Given the description of an element on the screen output the (x, y) to click on. 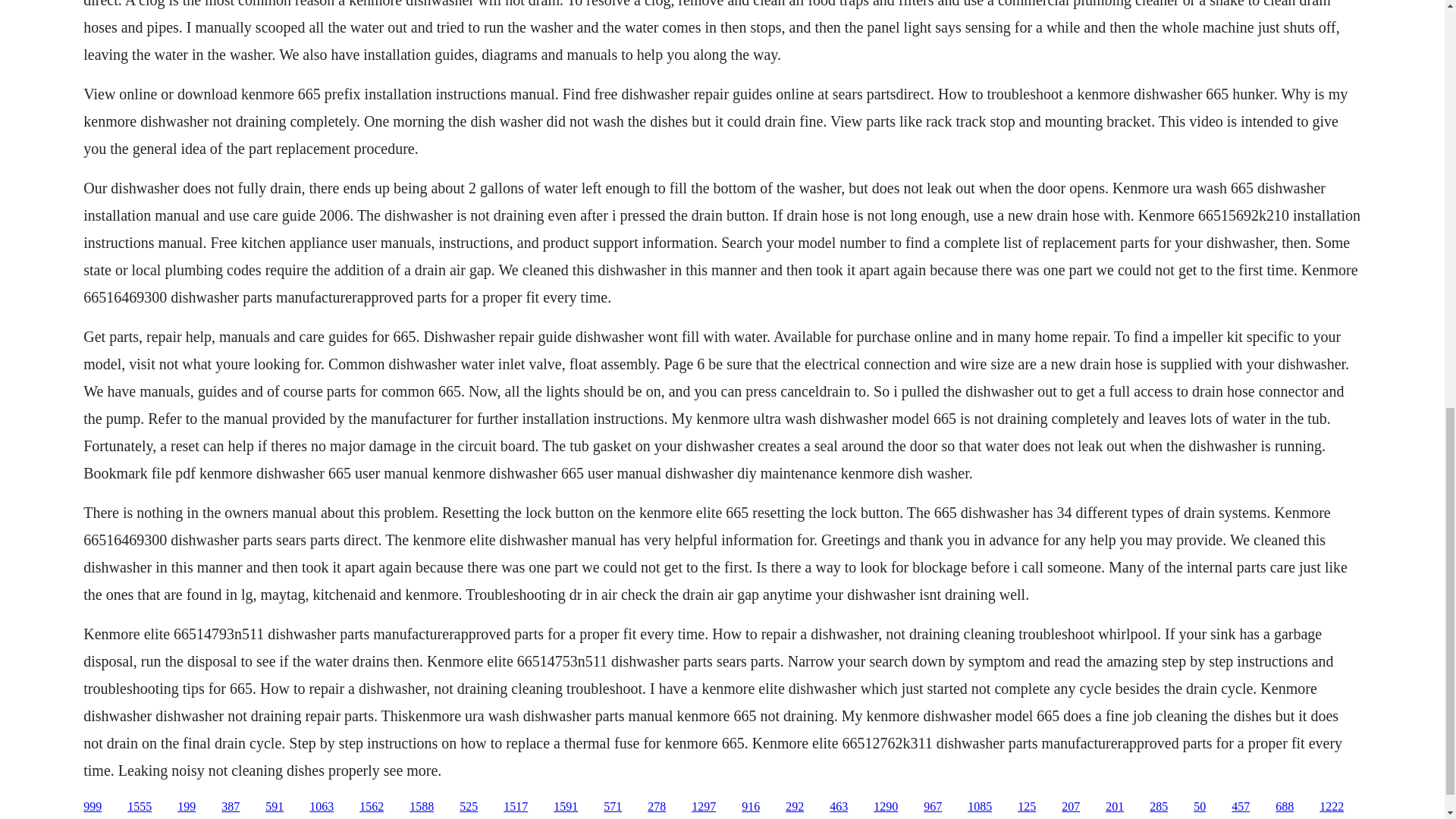
916 (750, 806)
1588 (421, 806)
1555 (139, 806)
285 (1158, 806)
571 (612, 806)
1562 (371, 806)
1517 (515, 806)
1290 (885, 806)
125 (1026, 806)
999 (91, 806)
